Given the description of an element on the screen output the (x, y) to click on. 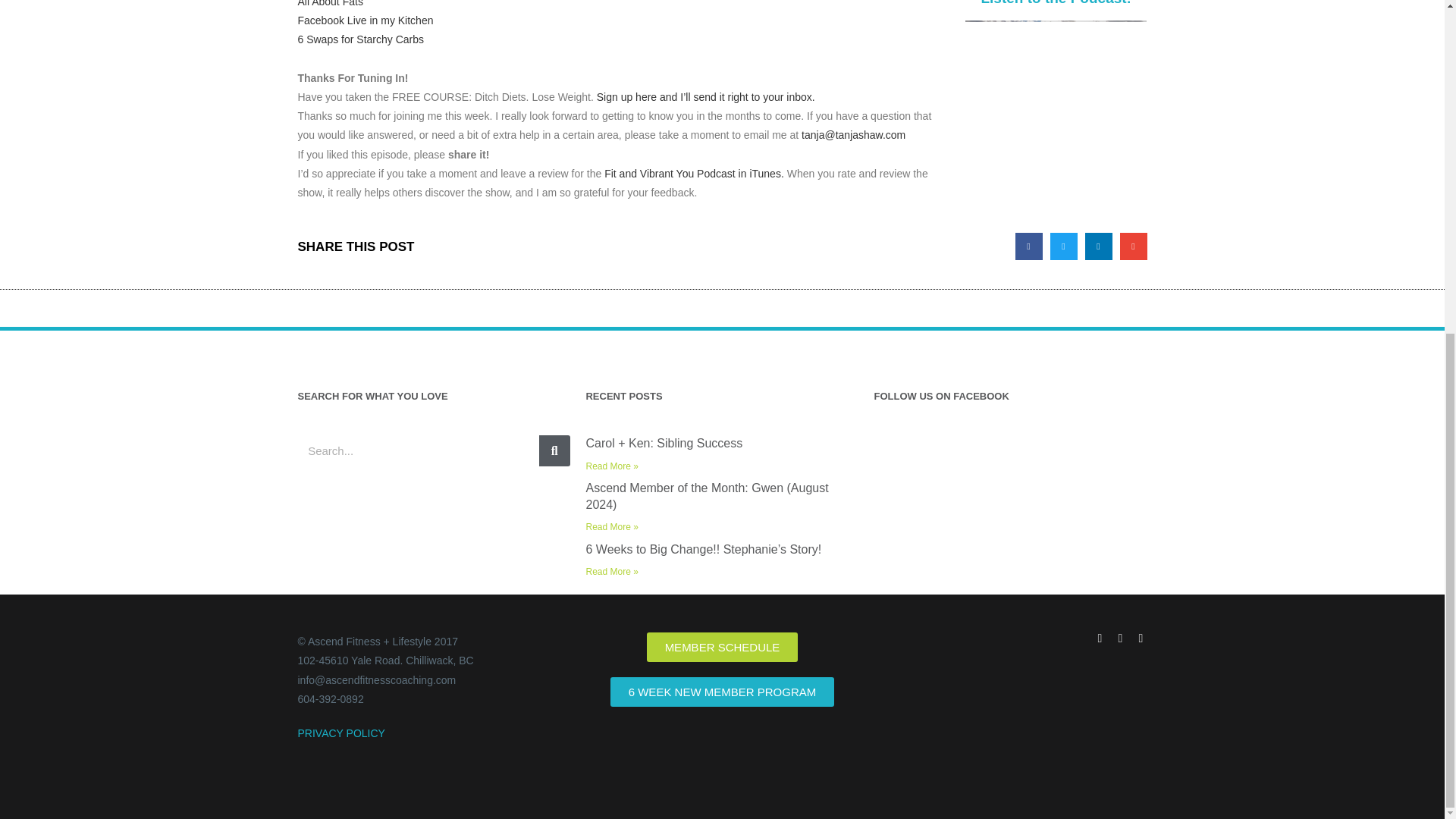
6 Swaps for Starchy Carbs (360, 39)
All About Fats (329, 3)
Fit and Vibrant You Podcast in iTunes. (694, 173)
Facebook Live in my Kitchen (364, 20)
